Given the description of an element on the screen output the (x, y) to click on. 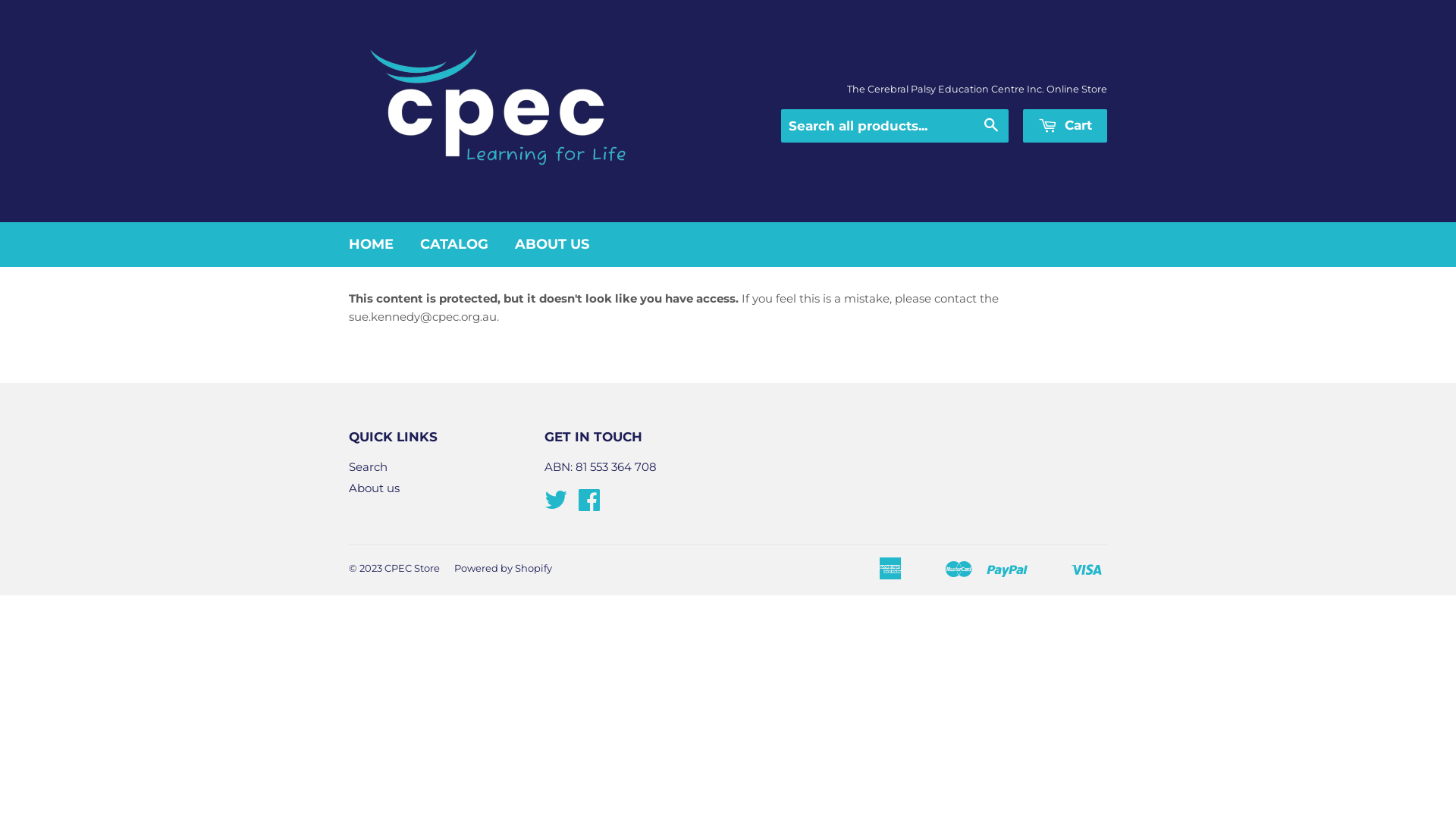
CATALOG Element type: text (453, 244)
Twitter Element type: text (555, 504)
Cart Element type: text (1064, 125)
Search Element type: text (991, 126)
CPEC Store Element type: text (411, 567)
About us Element type: text (373, 487)
ABOUT US Element type: text (551, 244)
HOME Element type: text (370, 244)
Facebook Element type: text (588, 504)
Powered by Shopify Element type: text (503, 567)
Search Element type: text (367, 466)
